Given the description of an element on the screen output the (x, y) to click on. 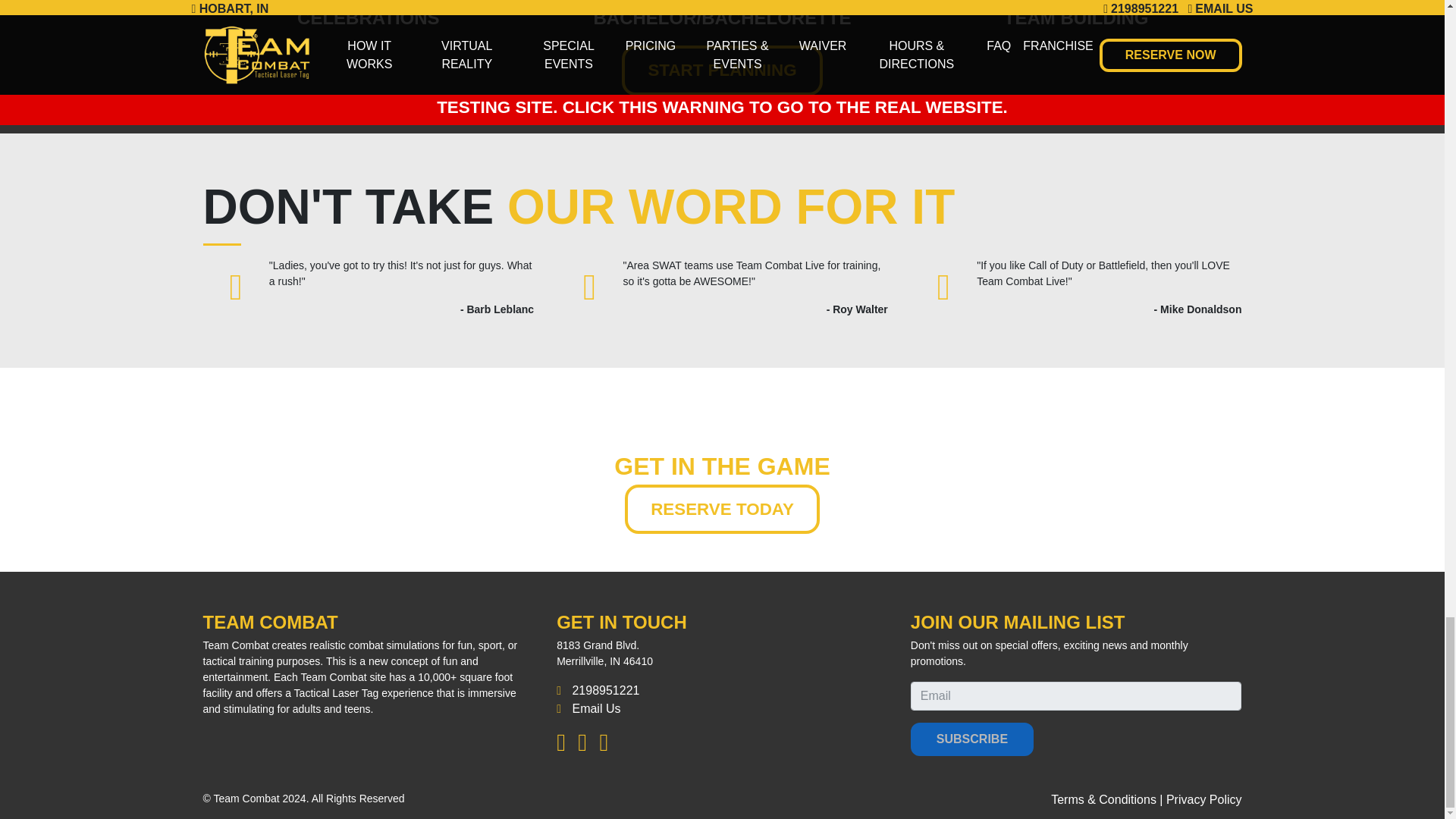
RESERVE TODAY (721, 509)
Email Us (596, 707)
START PLANNING (721, 70)
Privacy Policy (1203, 799)
SUBSCRIBE (972, 738)
2198951221 (605, 689)
